Given the description of an element on the screen output the (x, y) to click on. 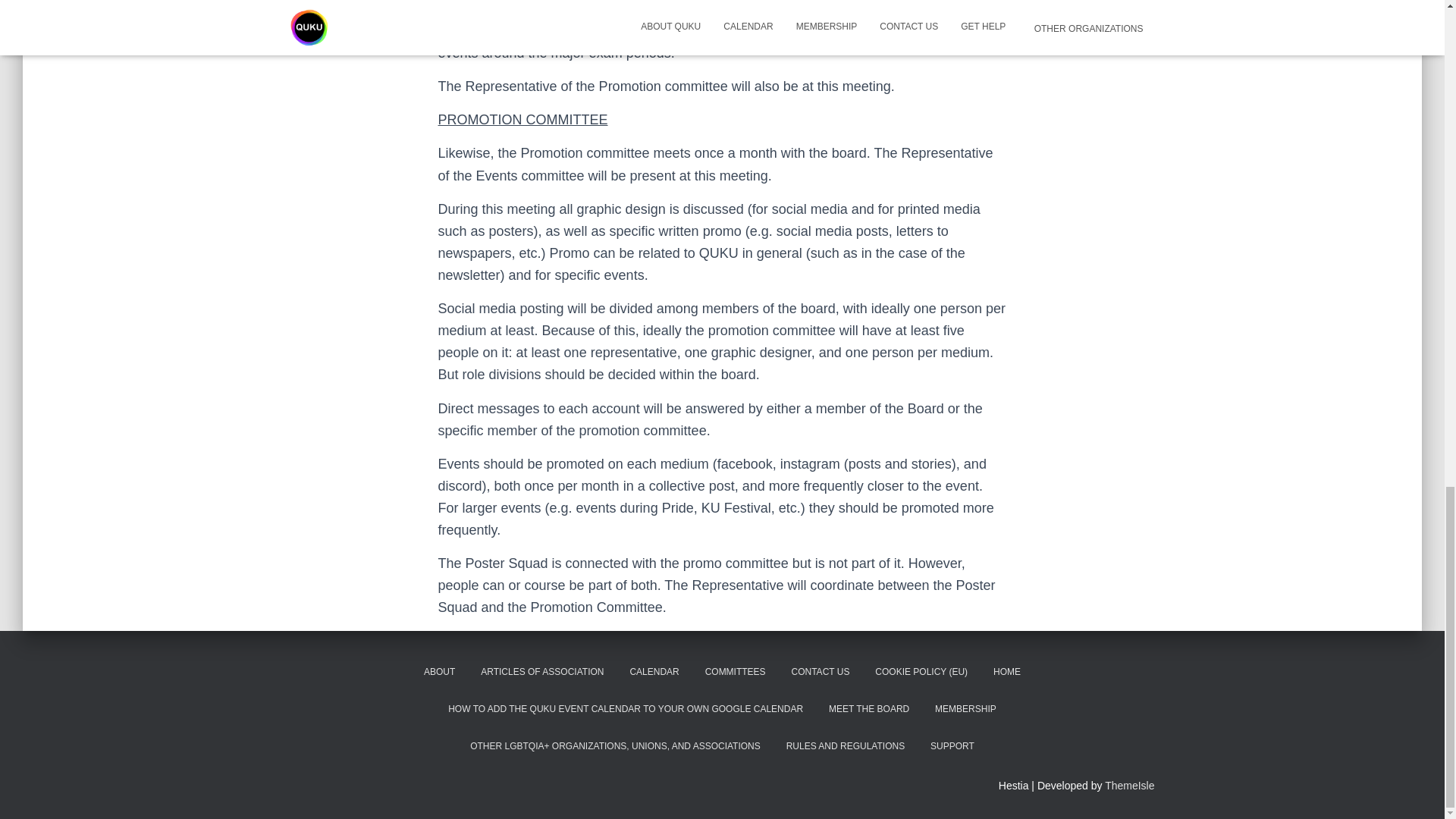
ABOUT (438, 672)
CONTACT US (820, 672)
RULES AND REGULATIONS (844, 746)
HOME (1006, 672)
COMMITTEES (735, 672)
SUPPORT (951, 746)
CALENDAR (653, 672)
MEMBERSHIP (965, 709)
MEET THE BOARD (868, 709)
